Given the description of an element on the screen output the (x, y) to click on. 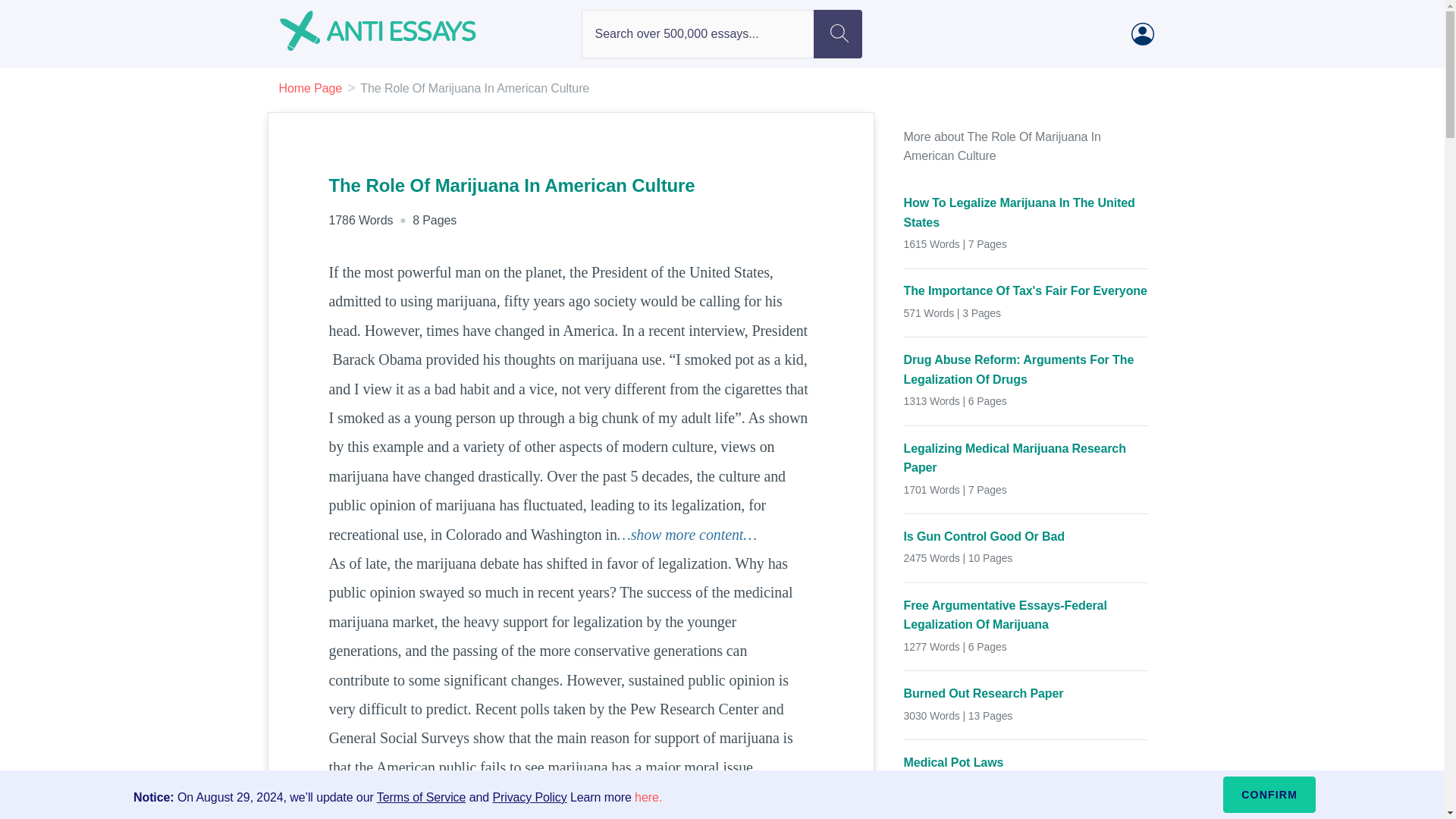
Legalizing Medical Marijuana Research Paper (1026, 457)
Is Gun Control Good Or Bad (1026, 537)
Free Argumentative Essays-Federal Legalization Of Marijuana (1026, 615)
Burned Out Research Paper (1026, 693)
Drug Abuse Reform: Arguments For The Legalization Of Drugs (1026, 369)
Medical Pot Laws (1026, 762)
The Importance Of Tax's Fair For Everyone (1026, 291)
Home Page (310, 88)
How To Legalize Marijuana In The United States (1026, 212)
